Given the description of an element on the screen output the (x, y) to click on. 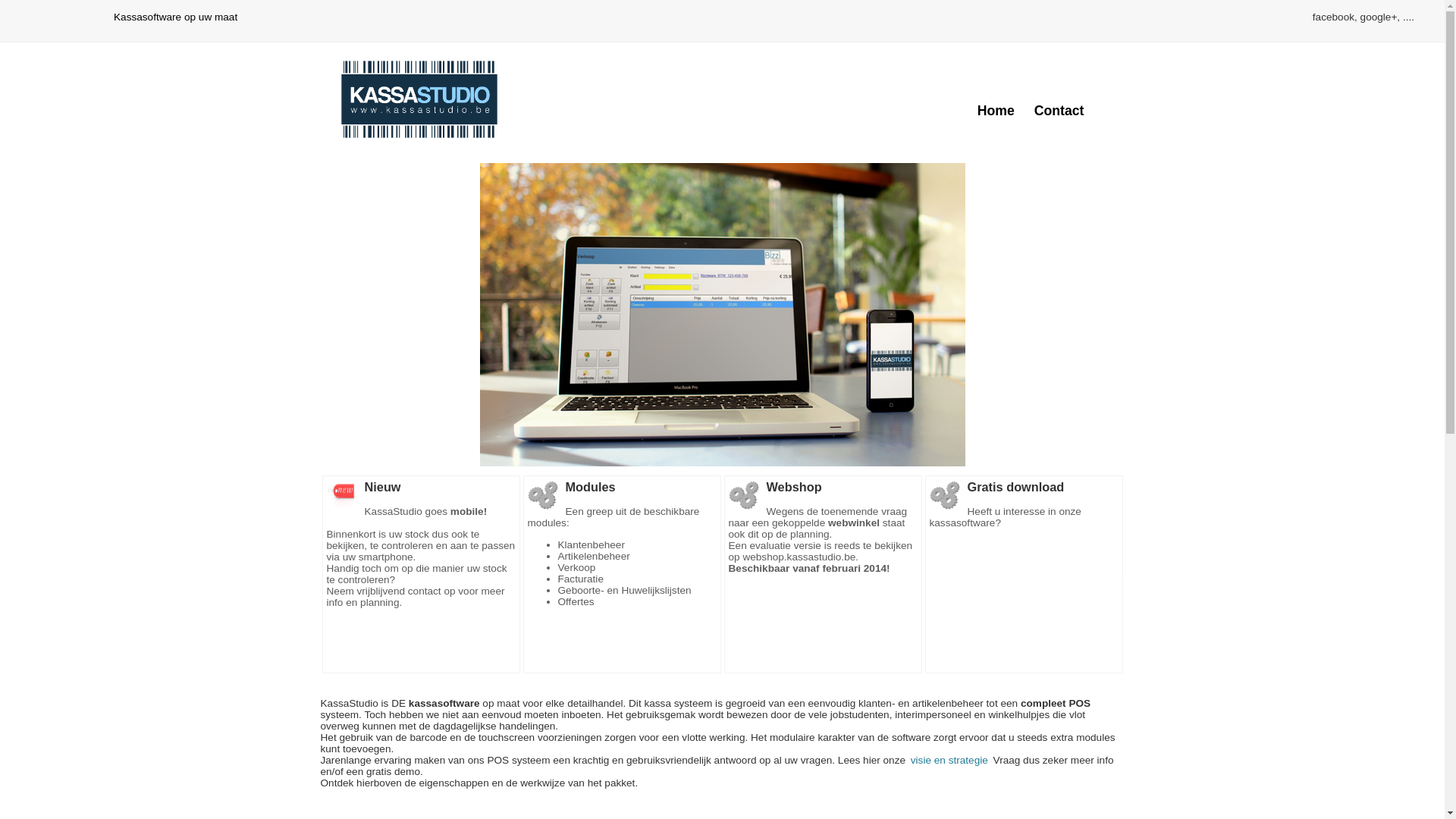
Home Element type: text (995, 110)
visie en strategie Element type: text (949, 759)
Kassasoftware met klantenbeheer,artikelenbeheer en barcode Element type: hover (419, 99)
Contact Element type: text (1059, 110)
kassasoftware kassa module met barcode Element type: hover (721, 314)
